Given the description of an element on the screen output the (x, y) to click on. 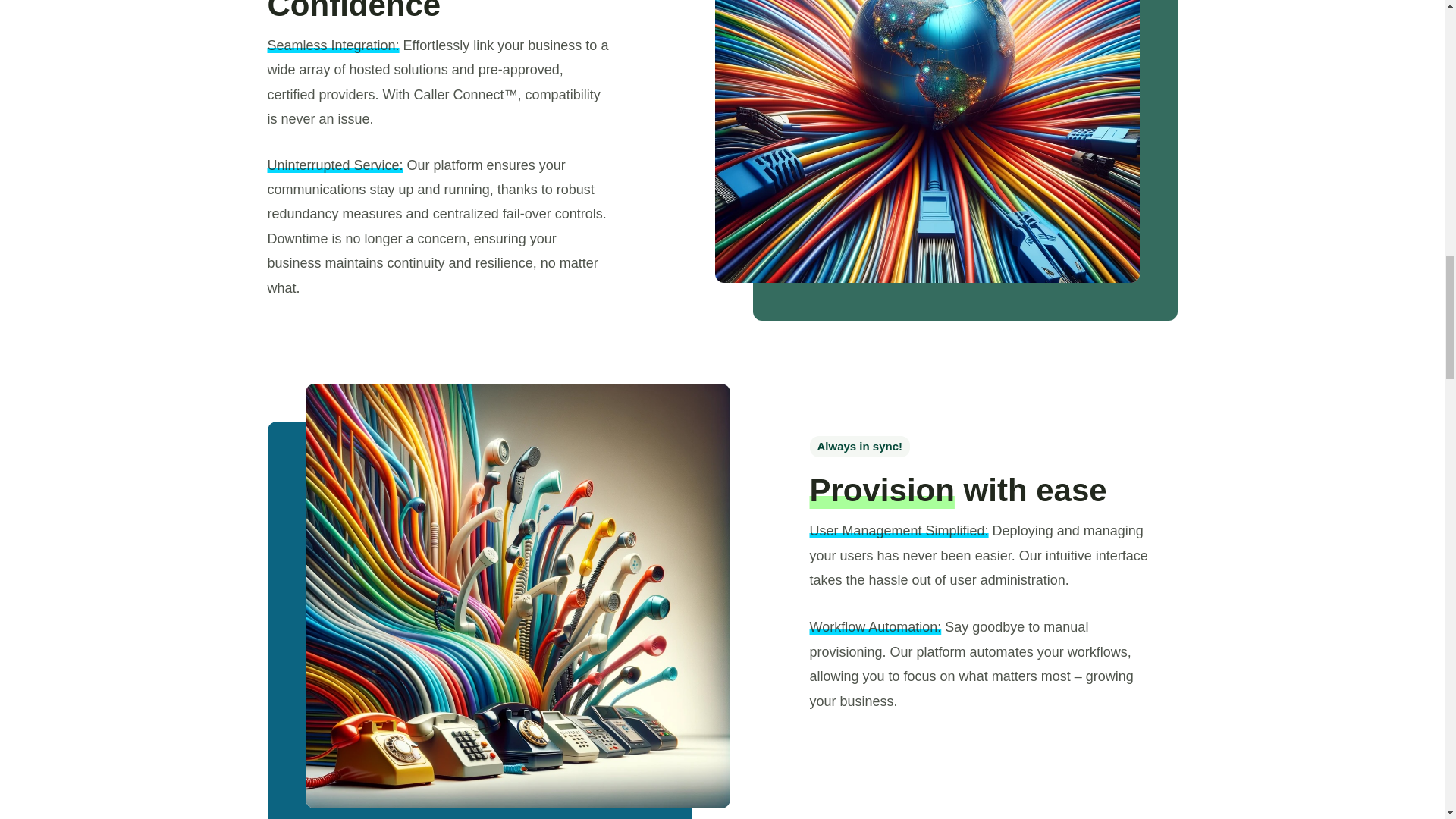
cc-connect (926, 141)
